Given the description of an element on the screen output the (x, y) to click on. 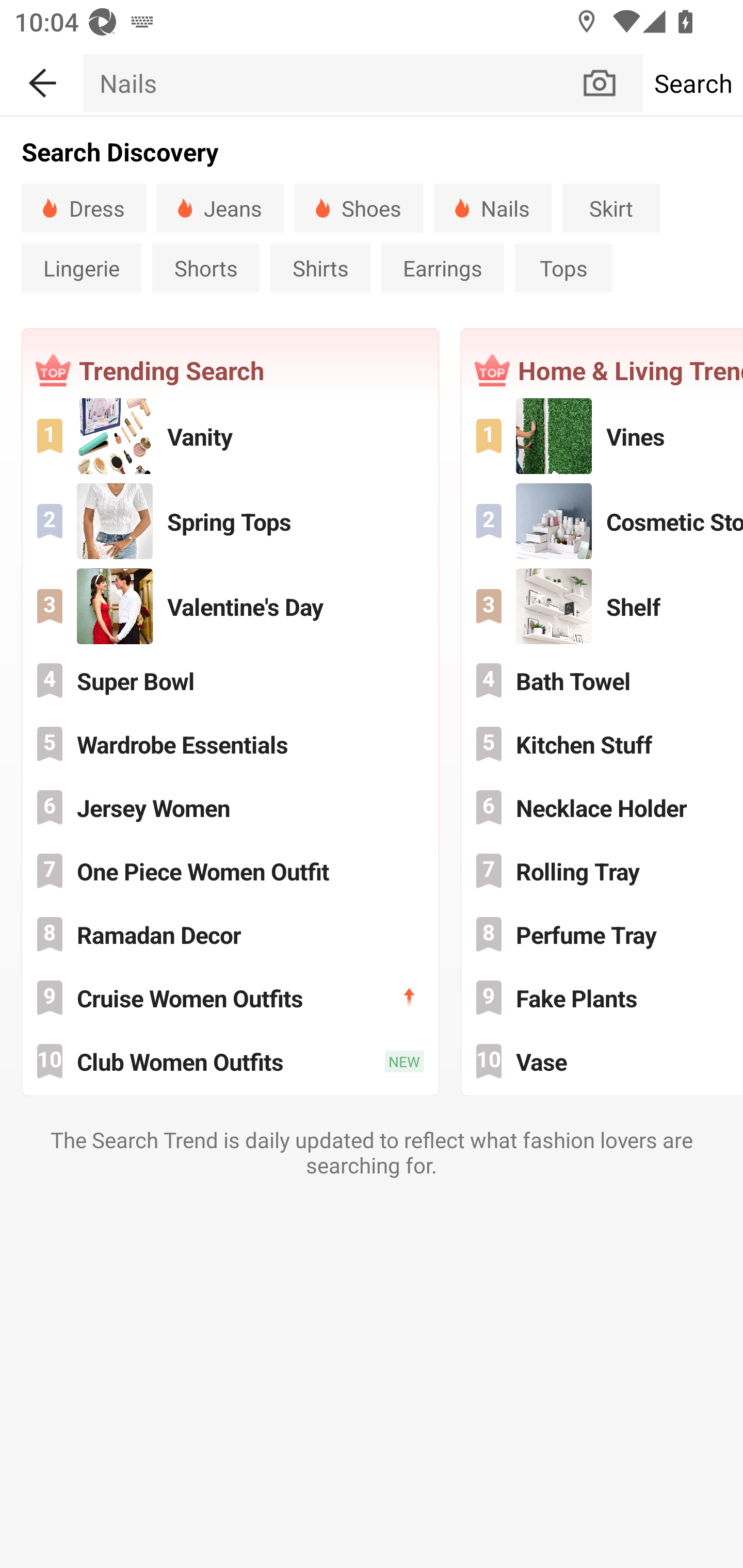
BACK (41, 79)
Nails (331, 82)
Search (692, 82)
Dress (83, 207)
Jeans (219, 207)
Shoes (358, 207)
Nails (492, 207)
Skirt (610, 207)
Lingerie (81, 268)
Shorts (205, 268)
Shirts (320, 268)
Earrings (442, 268)
Tops (563, 268)
Vanity 1 Vanity (230, 435)
Vines 1 Vines (602, 435)
Spring Tops 2 Spring Tops (230, 520)
Cosmetic Storage 2 Cosmetic Storage (602, 520)
Valentine's Day 3 Valentine's Day (230, 605)
Shelf 3 Shelf (602, 605)
Super Bowl 4 Super Bowl (230, 680)
Bath Towel 4 Bath Towel (602, 680)
Wardrobe Essentials 5 Wardrobe Essentials (230, 743)
Kitchen Stuff 5 Kitchen Stuff (602, 743)
Jersey Women 6 Jersey Women (230, 807)
Necklace Holder 6 Necklace Holder (602, 807)
One Piece Women Outfit 7 One Piece Women Outfit (230, 870)
Rolling Tray 7 Rolling Tray (602, 870)
Ramadan Decor 8 Ramadan Decor (230, 934)
Perfume Tray 8 Perfume Tray (602, 934)
Cruise Women Outfits 9 Cruise Women Outfits (230, 997)
Fake Plants 9 Fake Plants (602, 997)
Club Women Outfits 10 Club Women Outfits NEW (230, 1061)
Vase 10 Vase (602, 1061)
